Given the description of an element on the screen output the (x, y) to click on. 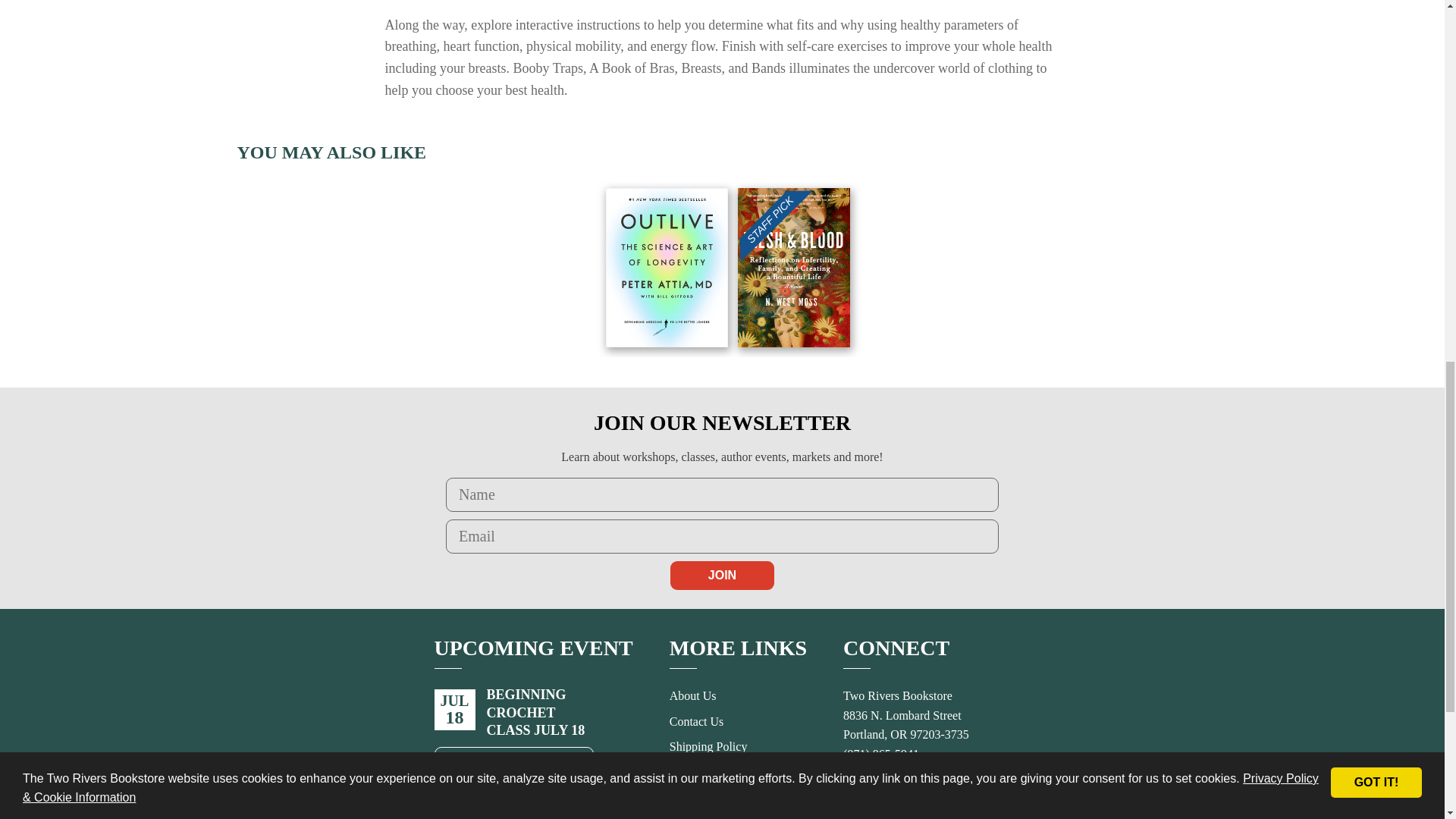
GOT IT! (1376, 55)
Join (721, 575)
